Given the description of an element on the screen output the (x, y) to click on. 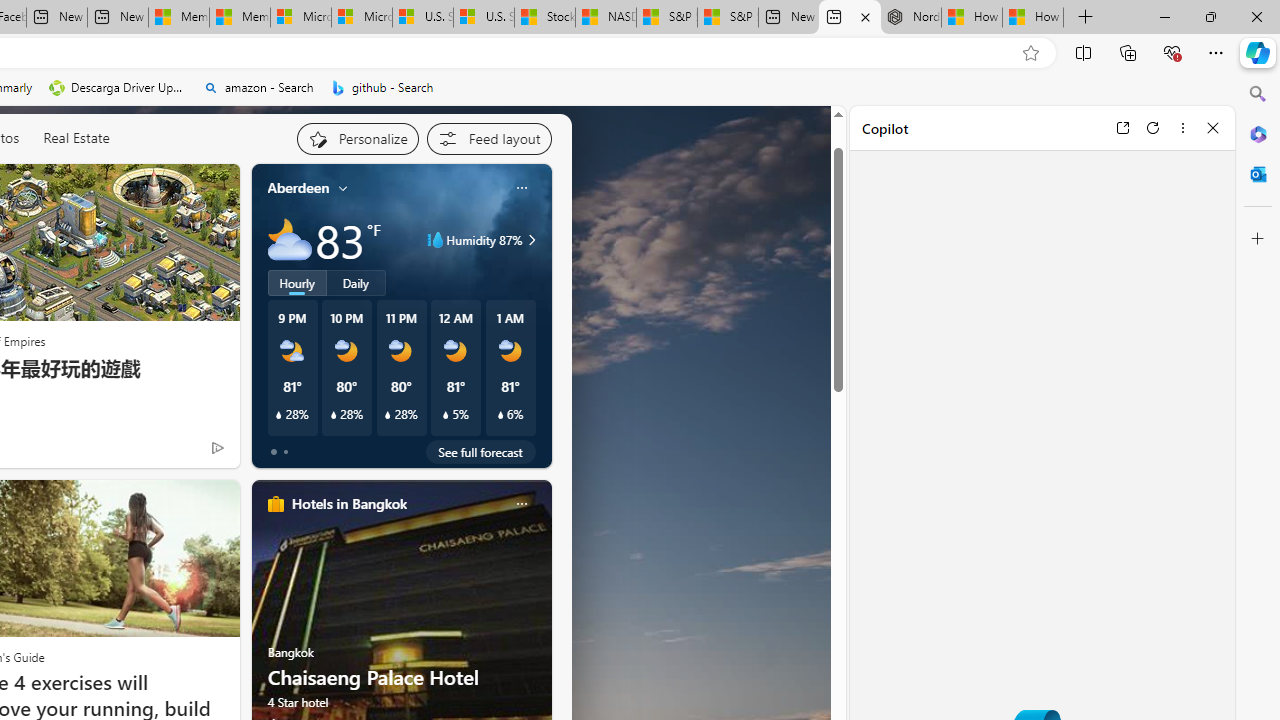
Outlook (1258, 174)
github - Search (381, 88)
My location (343, 187)
hotels-header-icon (275, 503)
Descarga Driver Updater (118, 88)
